Given the description of an element on the screen output the (x, y) to click on. 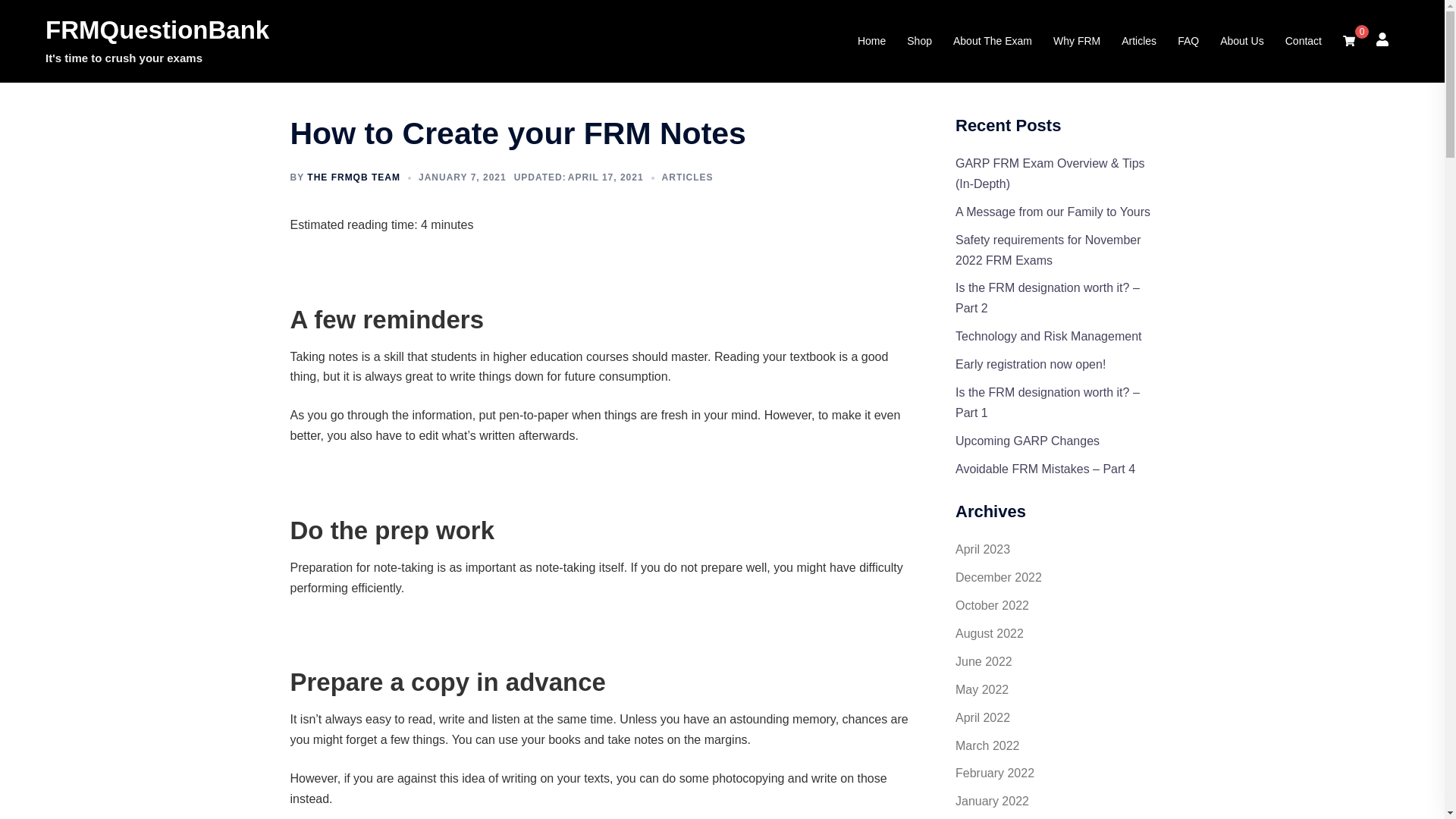
February 2022 (994, 772)
FAQ (1187, 41)
JANUARY 7, 2021APRIL 17, 2021 (531, 176)
Articles (1138, 41)
Upcoming GARP Changes (1027, 440)
Technology and Risk Management (1048, 336)
April 2022 (982, 717)
Home (871, 41)
THE FRMQB TEAM (353, 176)
FRMQuestionBank (157, 29)
About The Exam (992, 41)
April 2023 (982, 549)
August 2022 (989, 633)
March 2022 (987, 744)
December 2022 (998, 576)
